Given the description of an element on the screen output the (x, y) to click on. 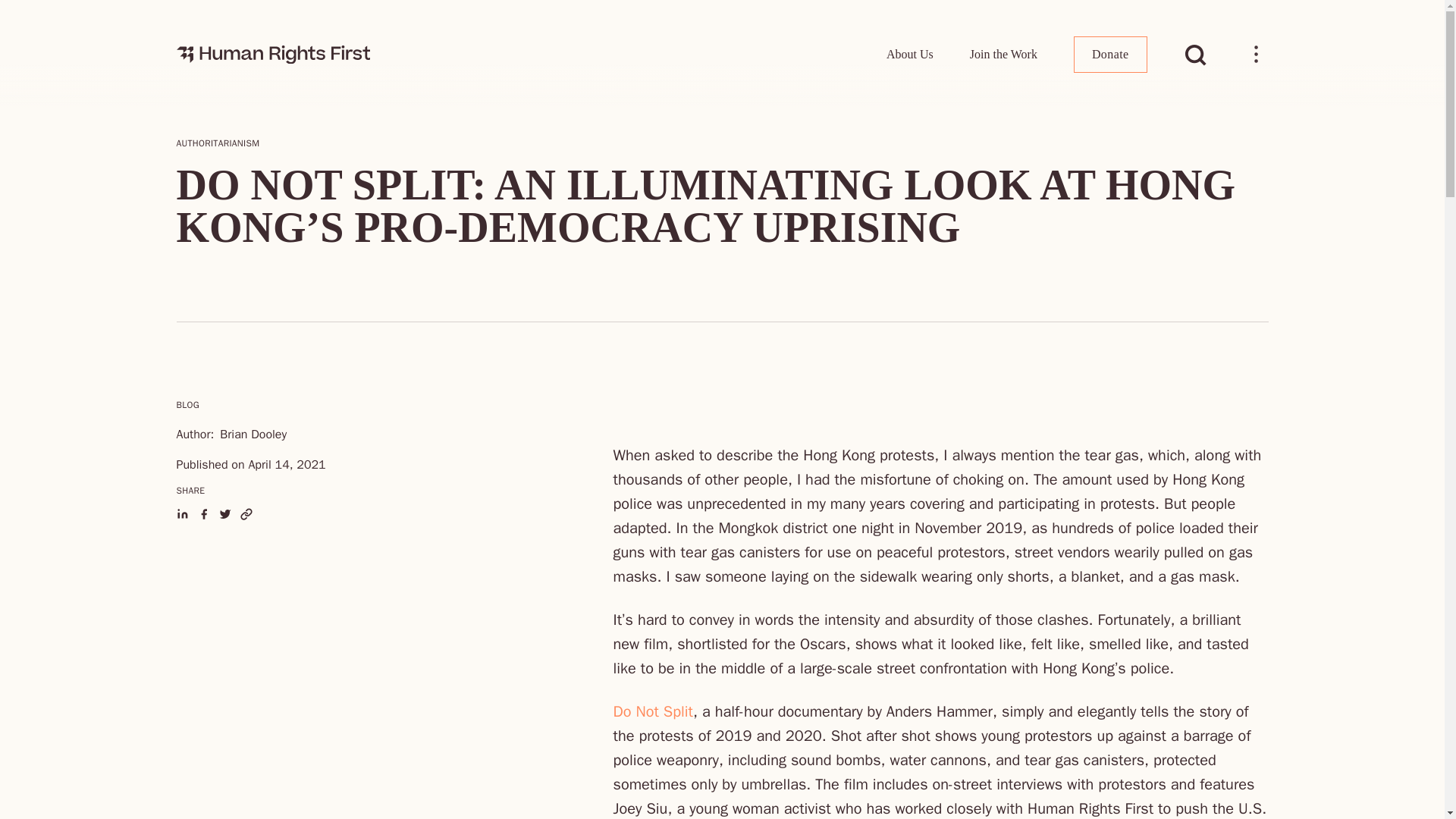
Share on LinkedIn (181, 513)
Donate (1110, 54)
About Us (909, 54)
Join the Work (1002, 54)
Share on Facebook (202, 513)
Share on Twitter (224, 513)
